Given the description of an element on the screen output the (x, y) to click on. 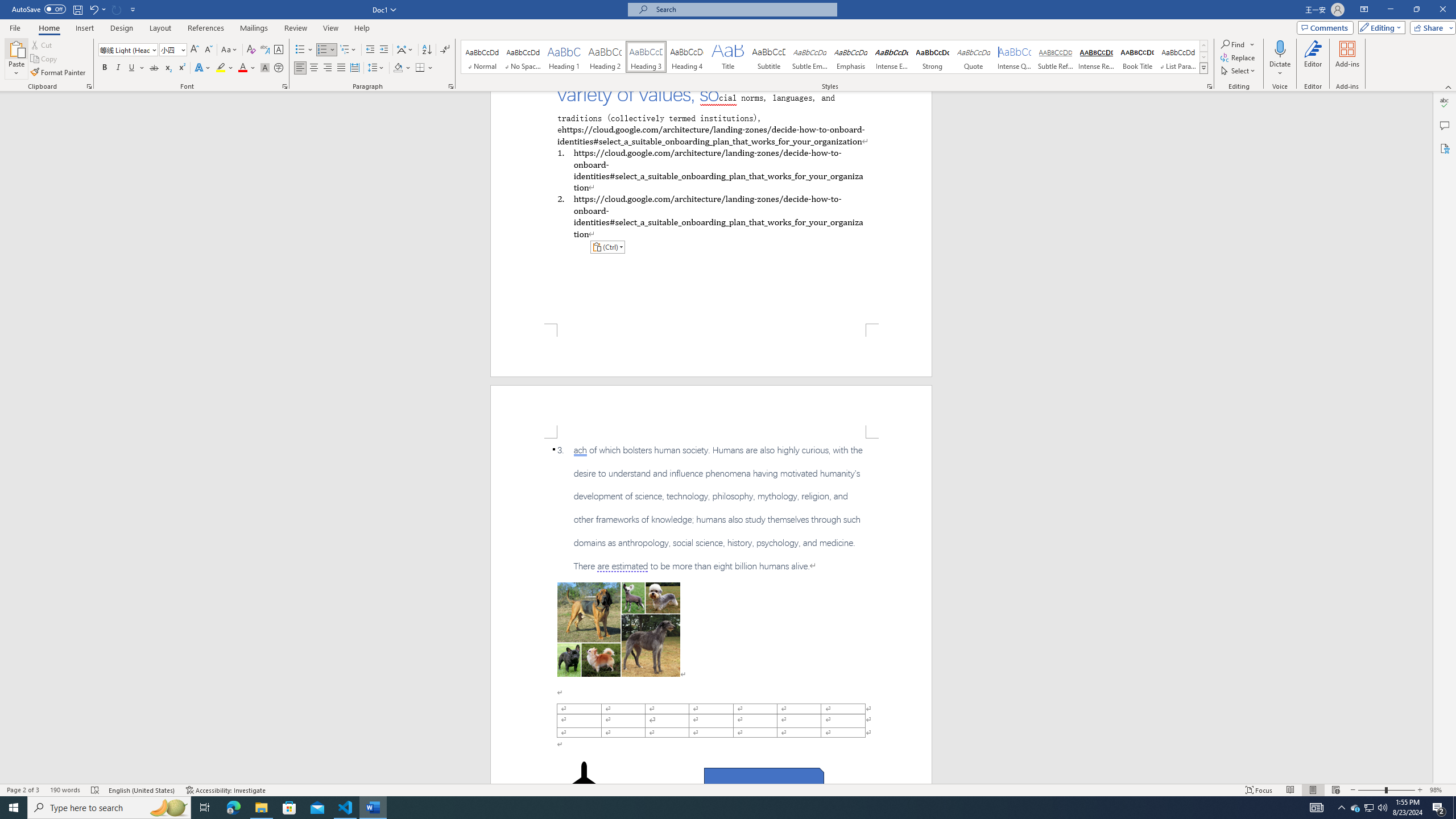
Styles (1203, 67)
Change Case (229, 49)
Styles... (1209, 85)
Heading 3 (646, 56)
Paragraph... (450, 85)
2. (710, 216)
Morphological variation in six dogs (618, 629)
Action: Paste alternatives (606, 246)
Heading 4 (686, 56)
Character Shading (264, 67)
Bold (104, 67)
